Given the description of an element on the screen output the (x, y) to click on. 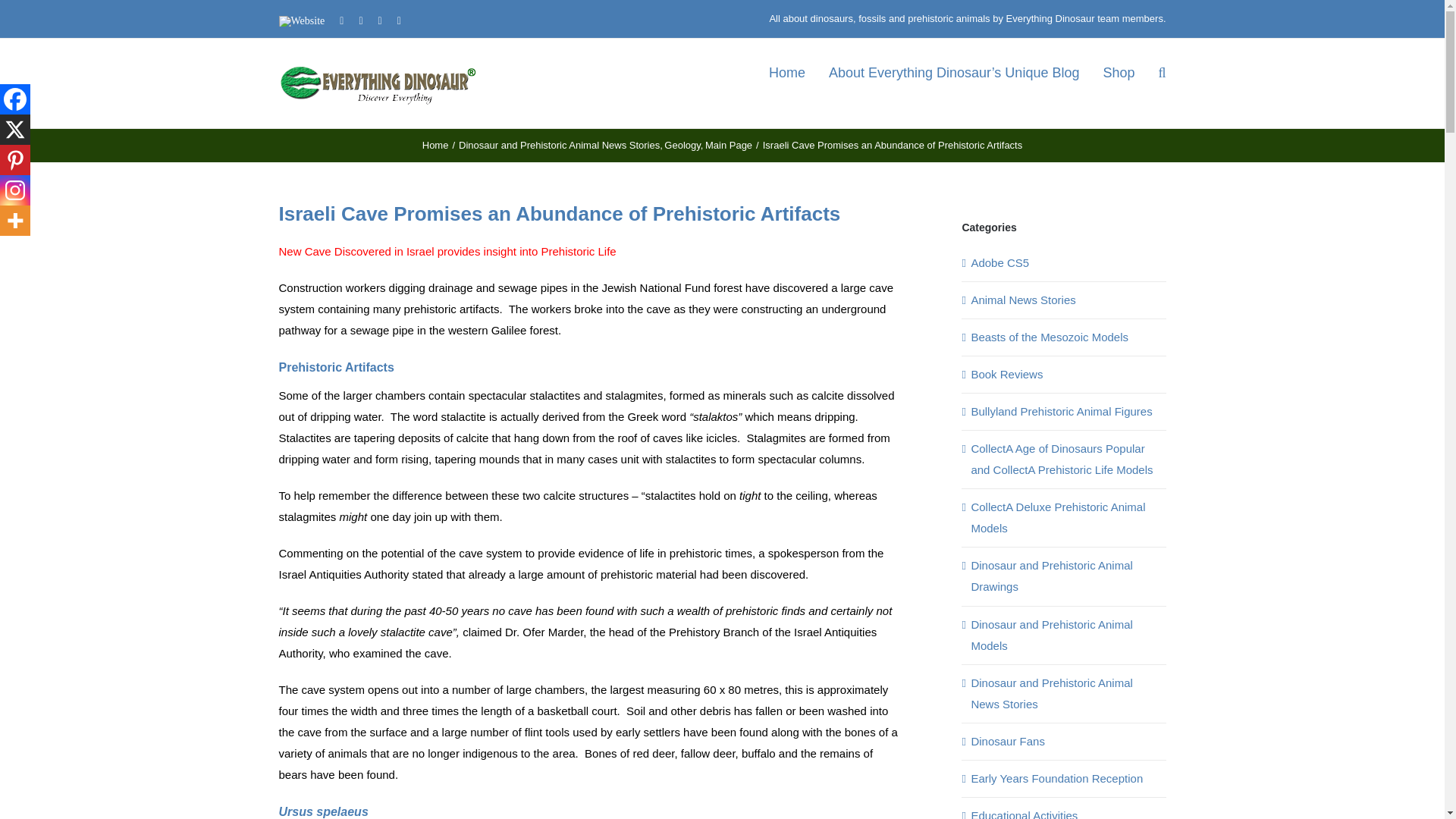
Main Page (728, 144)
Facebook (15, 99)
Website (301, 20)
Dinosaur and Prehistoric Animal News Stories (558, 144)
Pinterest (15, 159)
Website (301, 20)
X (15, 129)
Home (435, 144)
Instagram (15, 190)
More (15, 220)
